Given the description of an element on the screen output the (x, y) to click on. 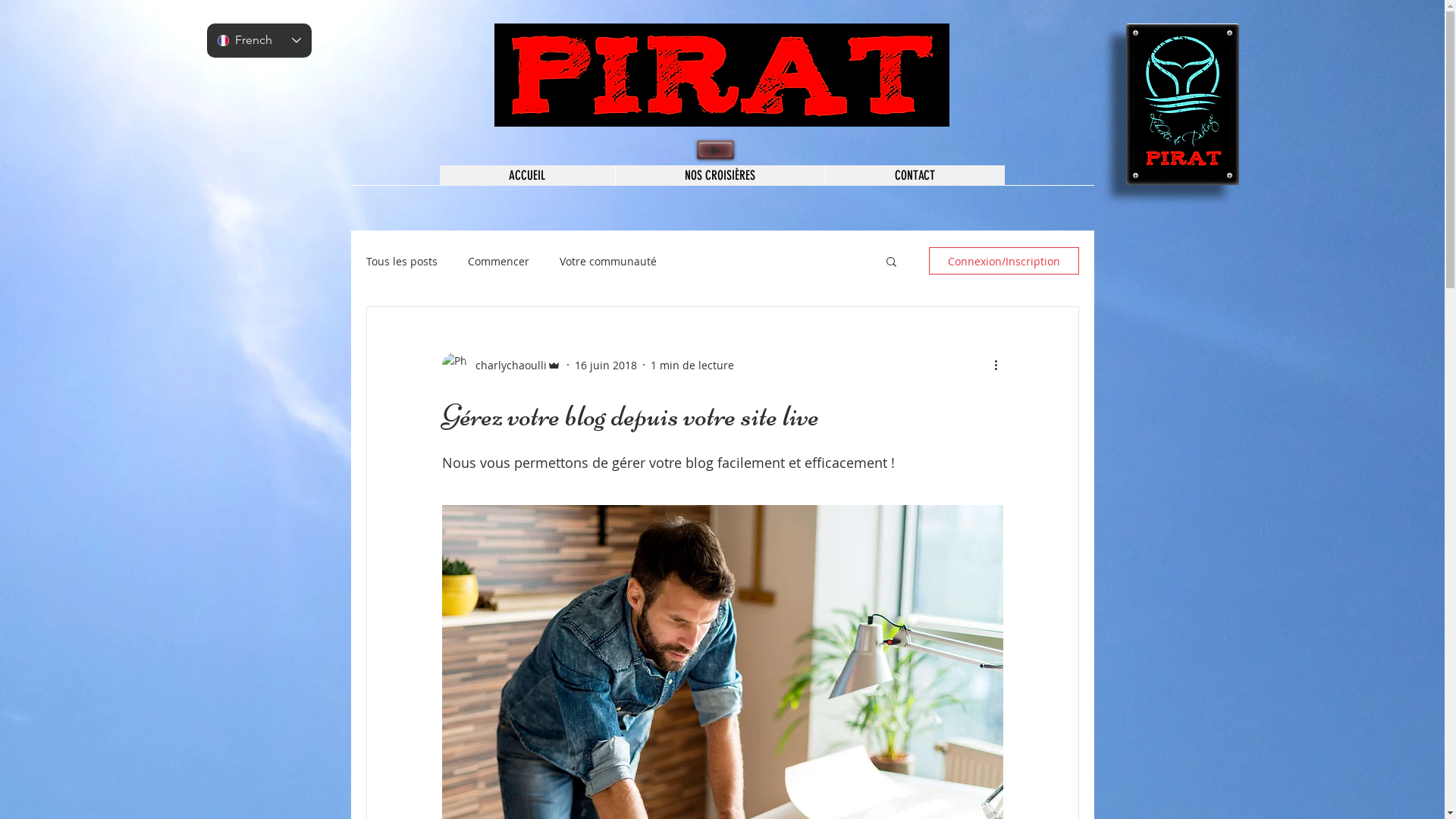
CONTACT Element type: text (914, 175)
logo transparent background HD.png Element type: hover (1181, 104)
Embedded Content Element type: hover (436, 37)
Commencer Element type: text (497, 260)
ACCUEIL Element type: text (527, 175)
Tous les posts Element type: text (400, 260)
Connexion/Inscription Element type: text (1003, 260)
